Given the description of an element on the screen output the (x, y) to click on. 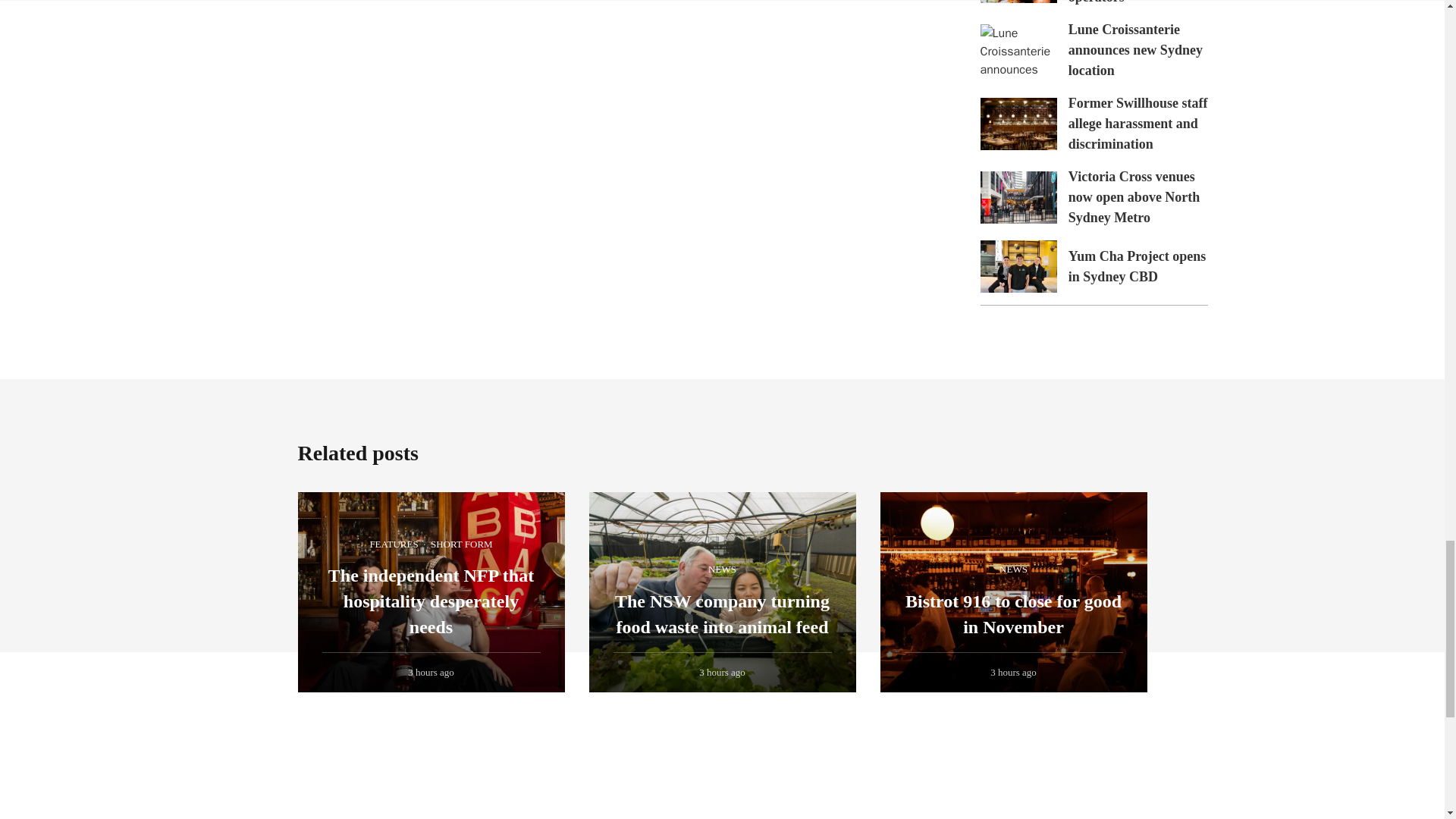
Yum Cha Project opens in Sydney CBD (1018, 266)
Victoria Cross venues now open above North Sydney Metro (1133, 196)
Lune Croissanterie announces new Sydney location (1135, 49)
Yum Cha Project opens in Sydney CBD (1137, 266)
Victoria Cross venues now open above North Sydney Metro (1018, 197)
Former Swillhouse staff allege harassment and discrimination (1138, 123)
Former Swillhouse staff allege harassment and discrimination (1018, 123)
Lune Croissanterie announces new Sydney location (1018, 50)
